Given the description of an element on the screen output the (x, y) to click on. 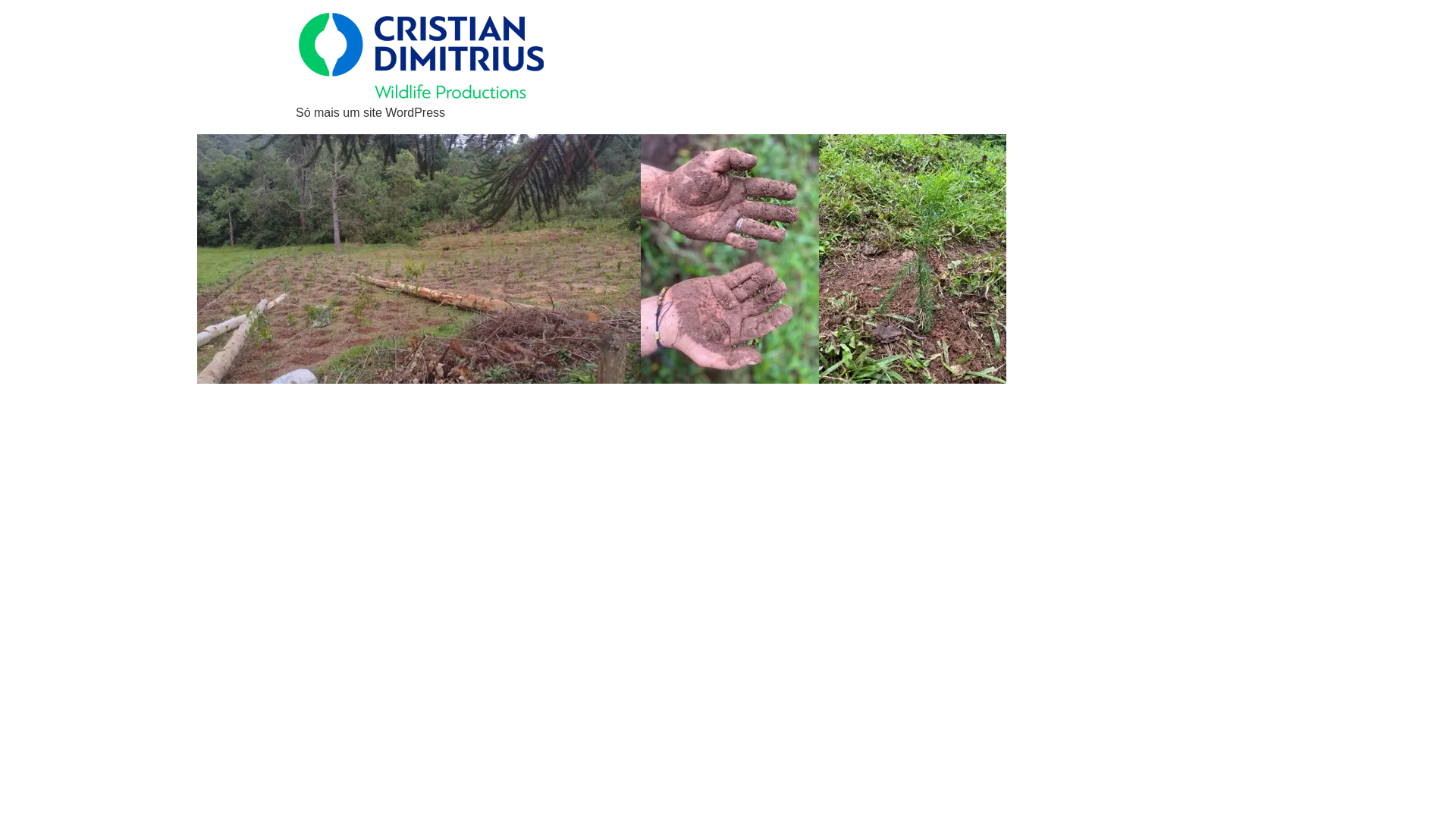
REDUCING OUR CARBON FOOTPRINT (344, 406)
